Given the description of an element on the screen output the (x, y) to click on. 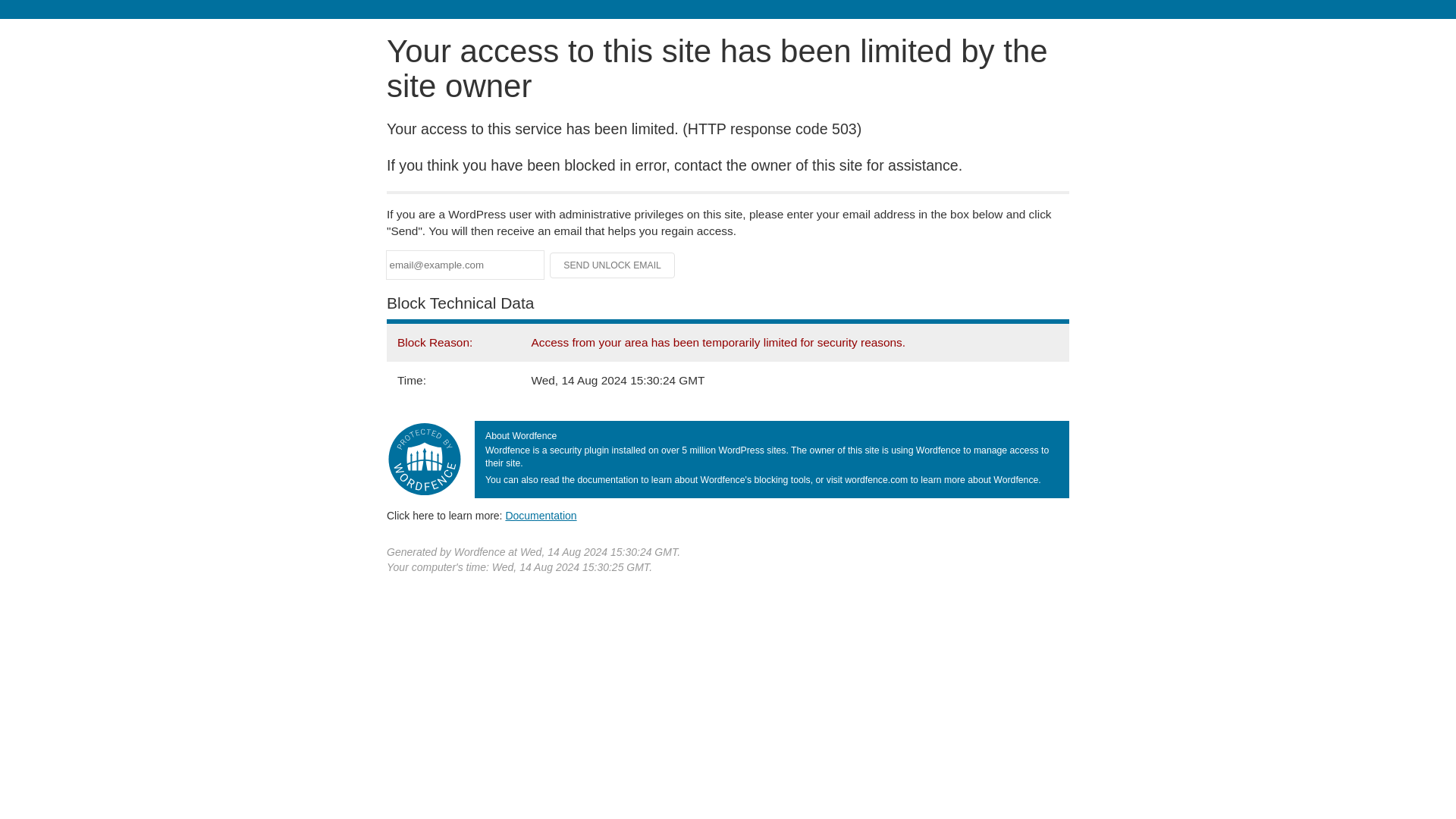
Documentation (540, 515)
Send Unlock Email (612, 265)
Send Unlock Email (612, 265)
